Given the description of an element on the screen output the (x, y) to click on. 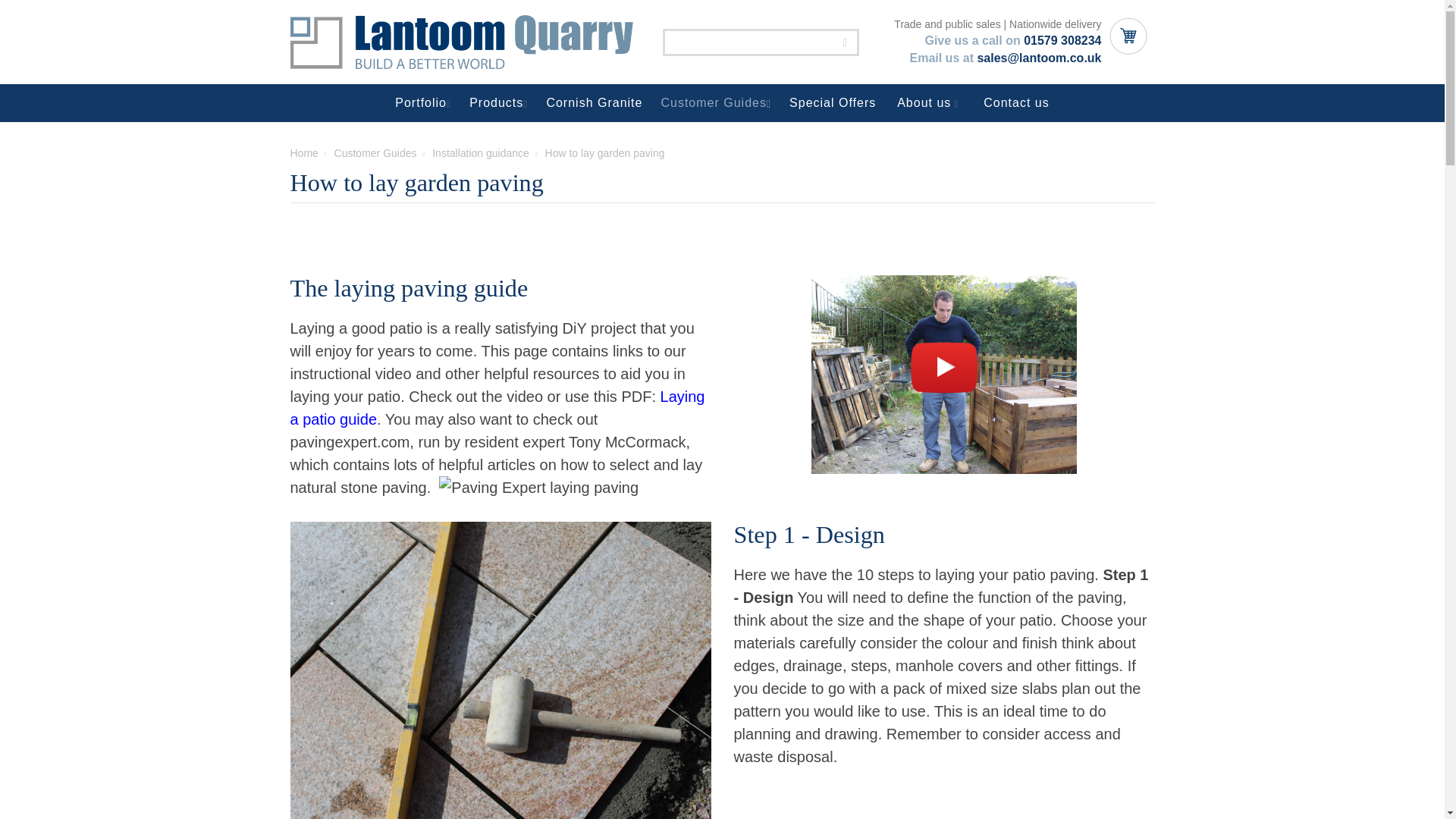
Paving Expert (539, 487)
Products (498, 103)
Laying paving guide (943, 375)
01579 308234 (1061, 40)
Portfolio (422, 103)
Paving guide (943, 375)
Search (845, 42)
Go to Home Page (303, 153)
Paving Expert - how to lay natural stone paving (539, 486)
Lantoom (460, 41)
